Given the description of an element on the screen output the (x, y) to click on. 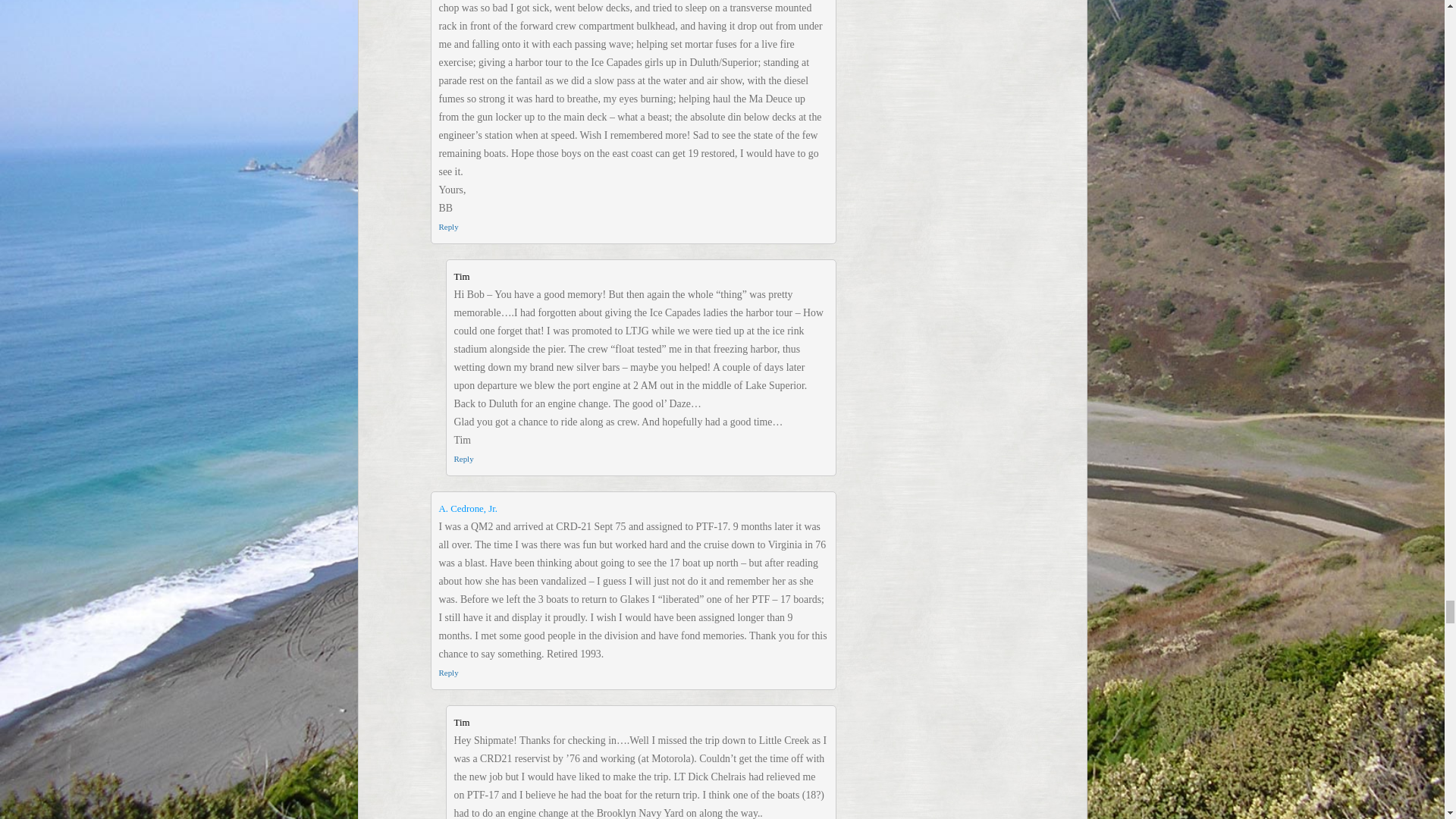
Reply (462, 458)
Reply (448, 672)
A. Cedrone, Jr. (467, 508)
Reply (448, 225)
